Given the description of an element on the screen output the (x, y) to click on. 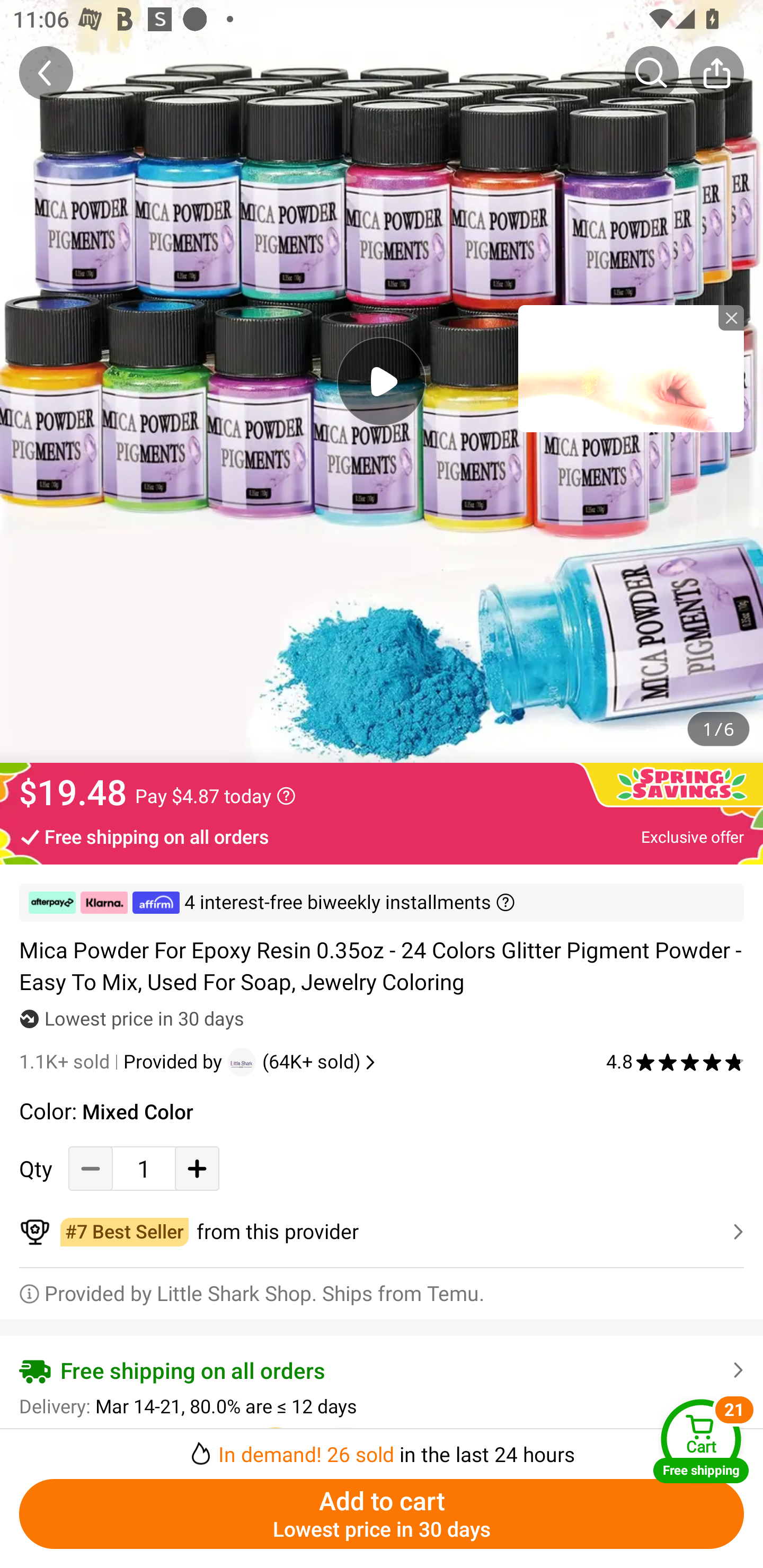
Back (46, 72)
Share (716, 72)
tronplayer_view (631, 368)
Pay $4.87 today   (215, 795)
Free shipping on all orders Exclusive offer (381, 836)
￼ ￼ ￼ 4 interest-free biweekly installments ￼ (381, 902)
4.8 (674, 1061)
Decrease Quantity Button (90, 1168)
1 (143, 1168)
Add Quantity button (196, 1168)
￼￼from this provider (381, 1231)
Cart Free shipping Cart (701, 1440)
￼￼In demand! 26 sold in the last 24 hours (381, 1448)
Add to cart Lowest price in 30 days (381, 1513)
